Given the description of an element on the screen output the (x, y) to click on. 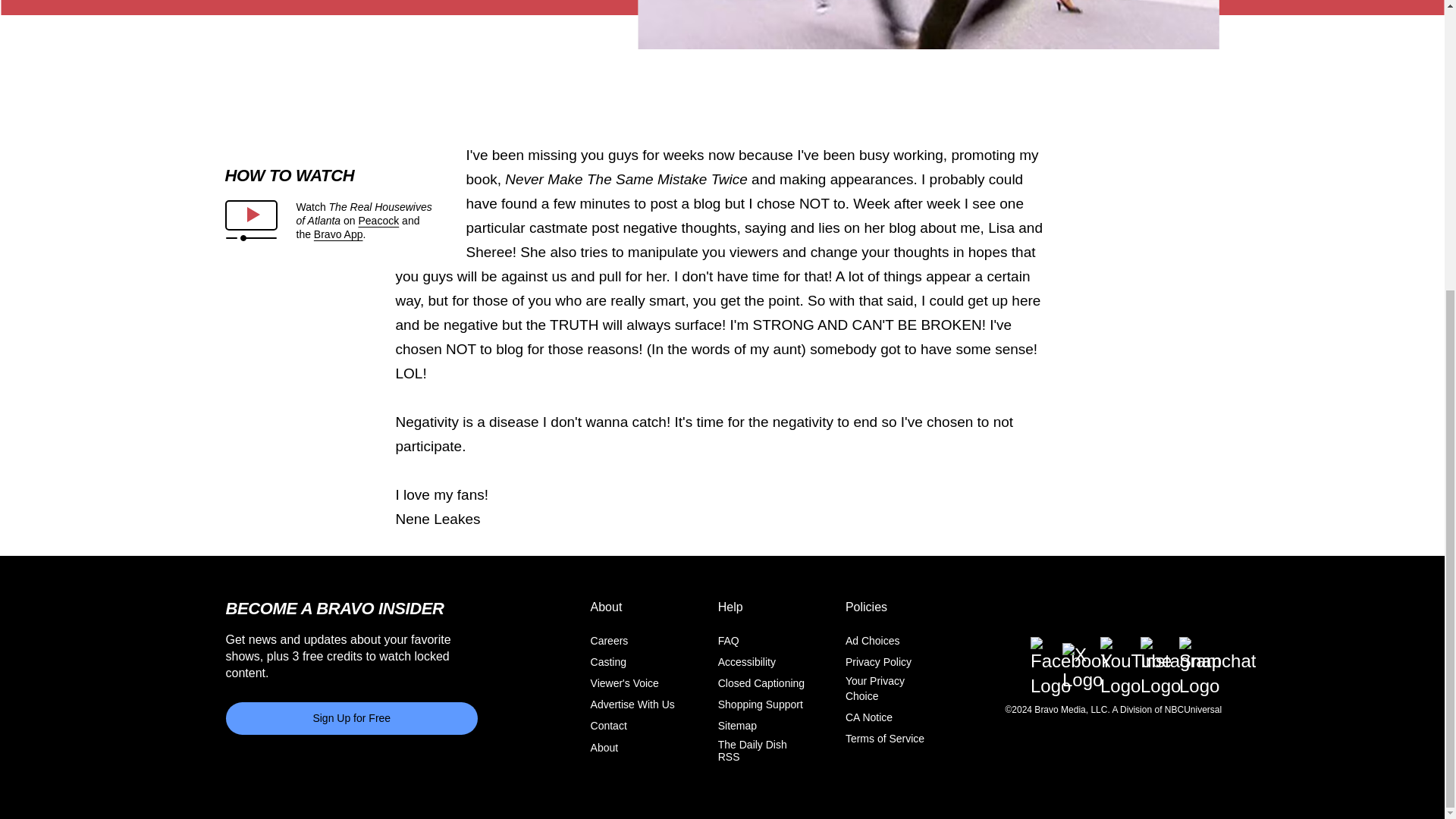
Contact (609, 725)
Peacock (378, 220)
About (604, 746)
Closed Captioning (761, 683)
Sign Up for Free (352, 717)
Careers (609, 640)
Viewer's Voice (625, 683)
Accessibility (746, 662)
Advertise With Us (633, 704)
Casting (608, 662)
